Given the description of an element on the screen output the (x, y) to click on. 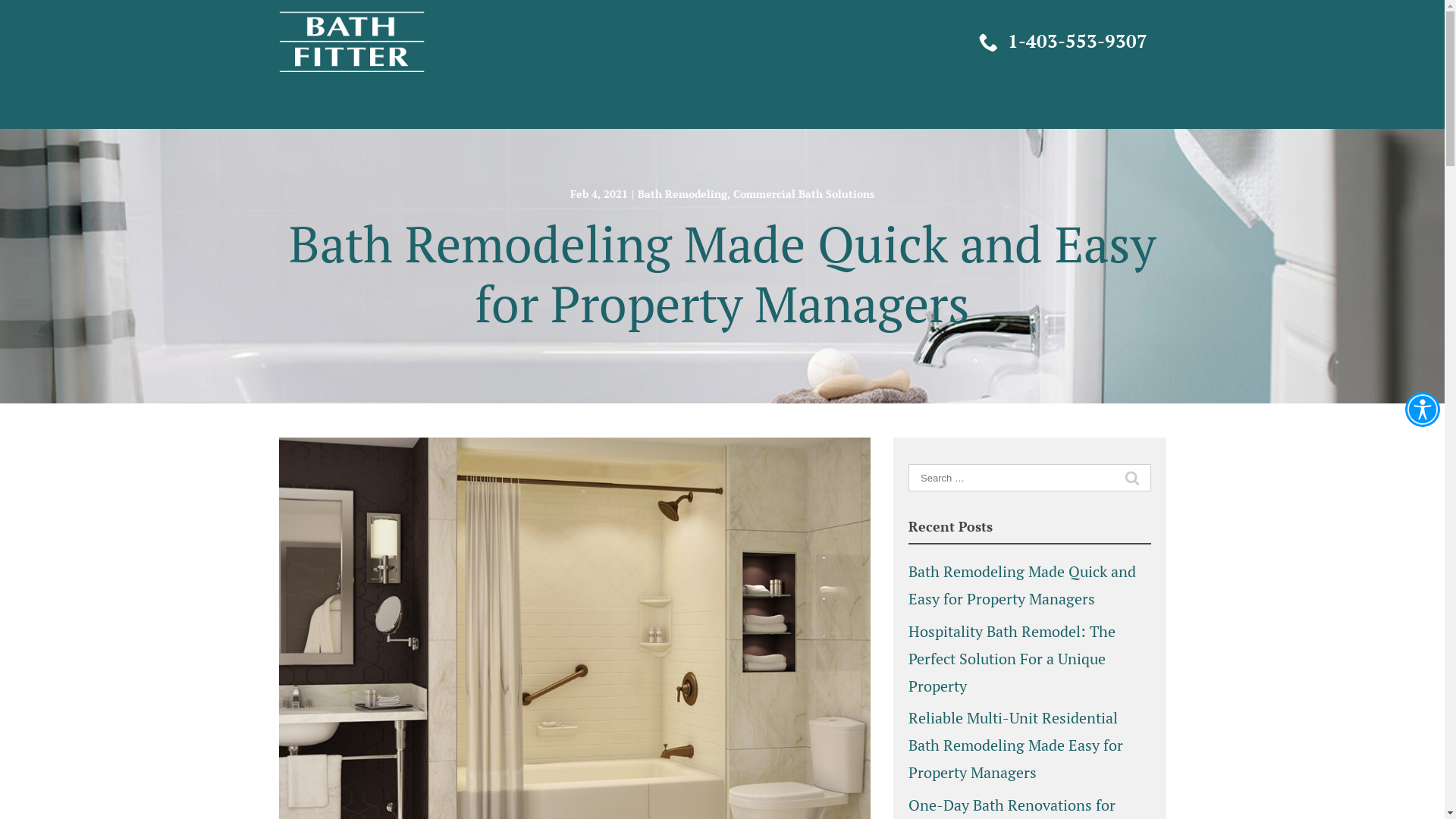
Bath Remodeling Made Quick and Easy for Property Managers Element type: text (1021, 584)
1-403-553-9307 Element type: text (1058, 41)
Commercial Bath Solutions Element type: text (803, 193)
Bath Remodeling Element type: text (682, 193)
Search Element type: text (21, 7)
